Given the description of an element on the screen output the (x, y) to click on. 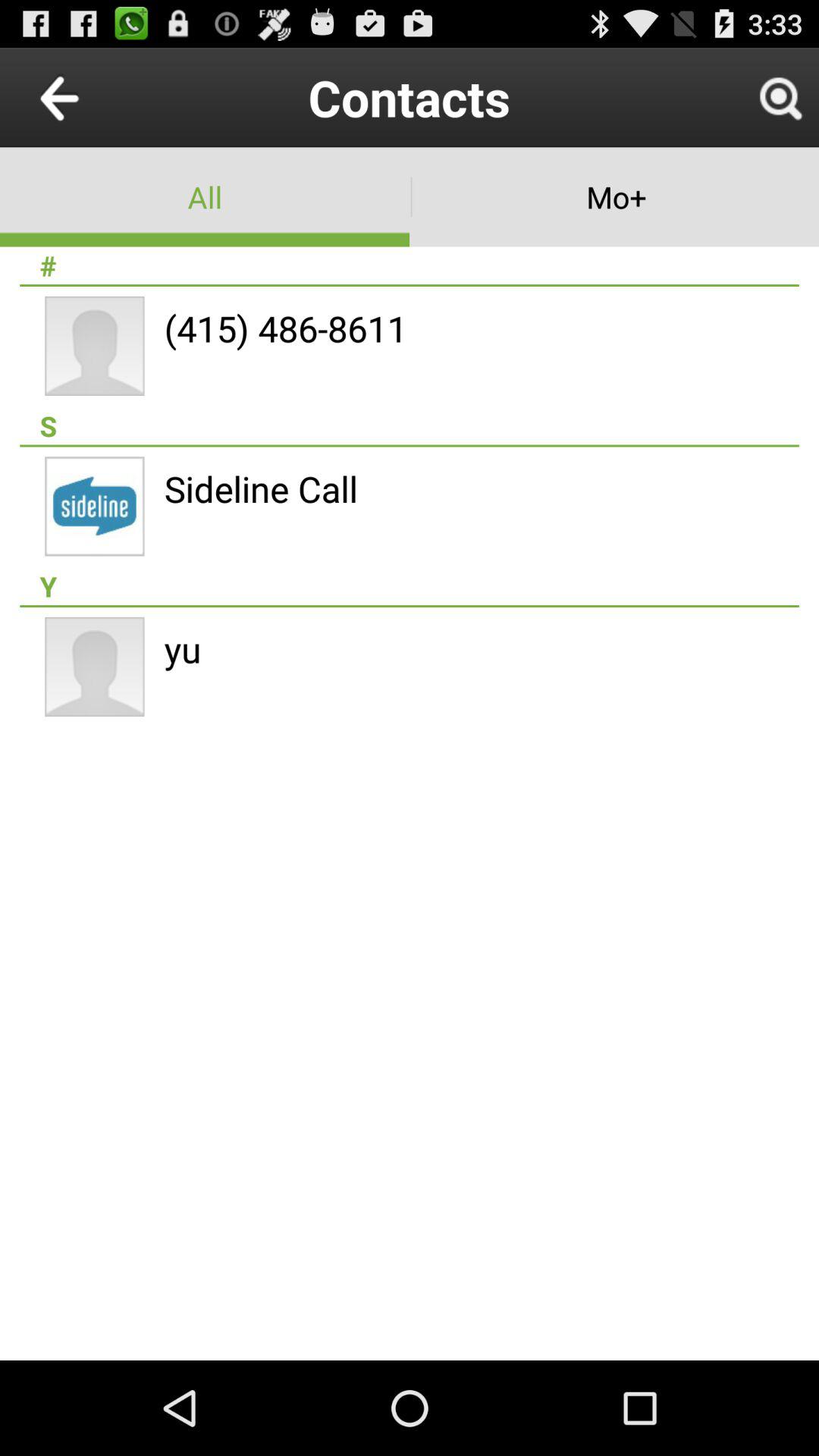
jump until the (415) 486-8611 item (285, 328)
